Given the description of an element on the screen output the (x, y) to click on. 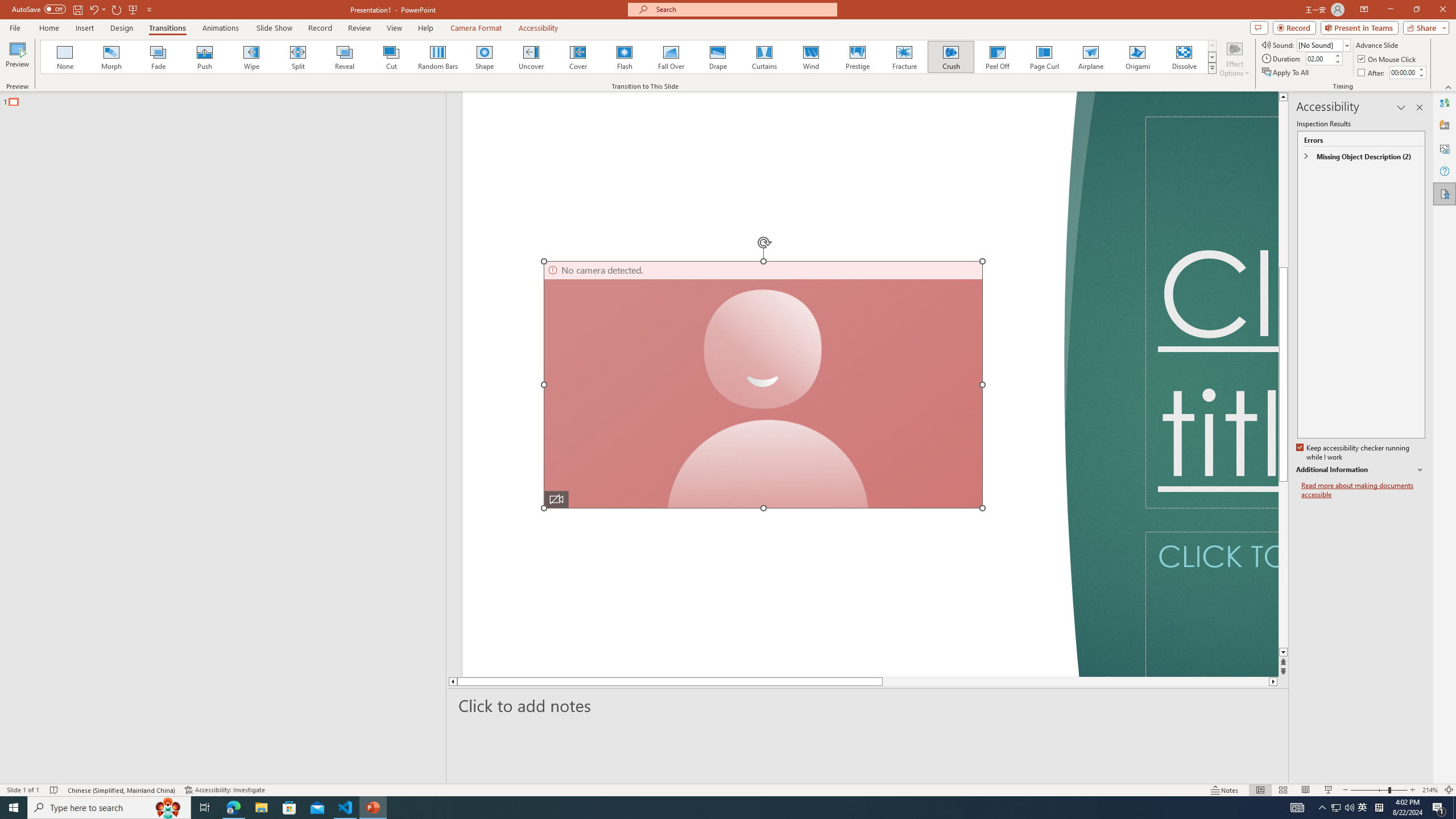
Push (205, 56)
After (1372, 72)
Cover (577, 56)
